Given the description of an element on the screen output the (x, y) to click on. 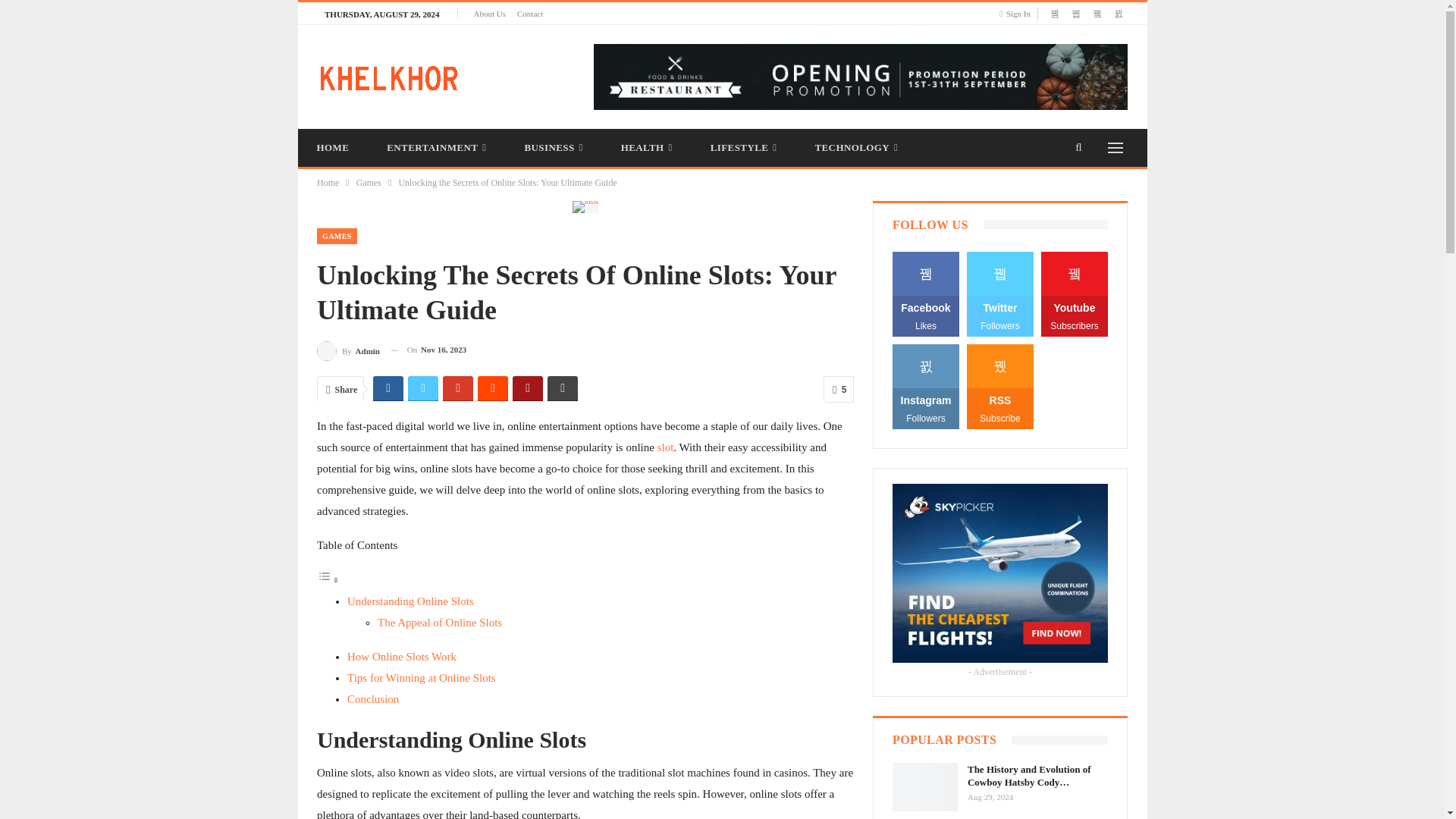
The Appeal of Online Slots (439, 622)
HOME (332, 147)
ENTERTAINMENT (436, 147)
Understanding Online Slots (410, 601)
Contact (529, 13)
About Us (489, 13)
Tips for Winning at Online Slots (421, 677)
Sign In (1017, 13)
BUSINESS (553, 147)
Conclusion (372, 698)
